Given the description of an element on the screen output the (x, y) to click on. 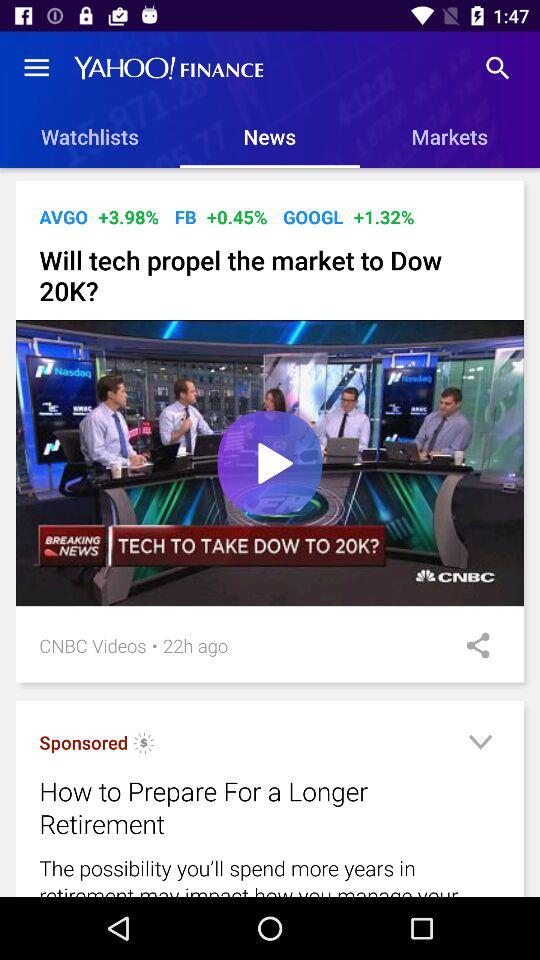
press icon next to the +1.32% item (313, 216)
